Given the description of an element on the screen output the (x, y) to click on. 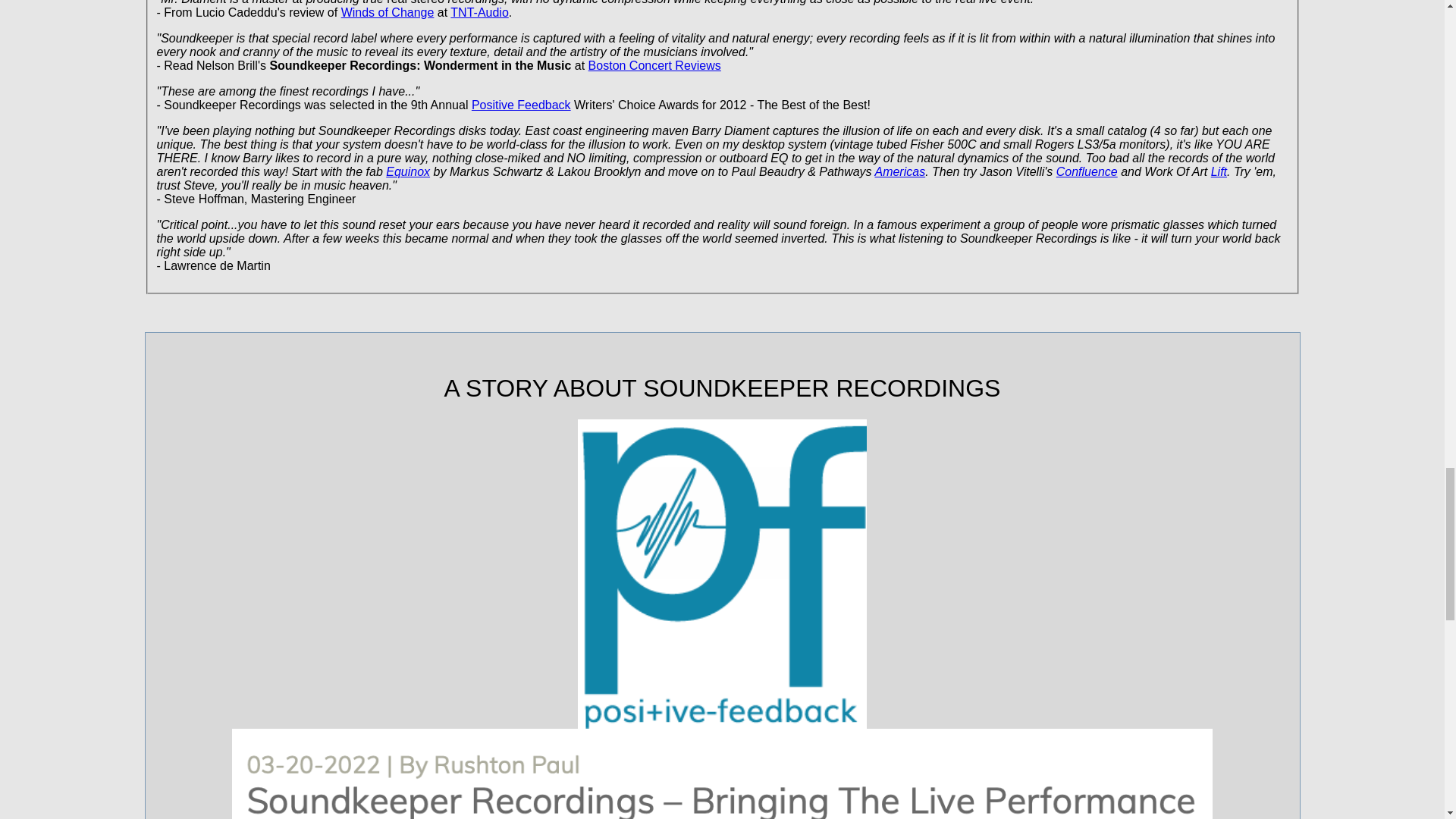
TNT-Audio (478, 11)
Positive Feedback (520, 104)
Americas (899, 171)
Boston Concert Reviews (654, 65)
Winds of Change (386, 11)
Equinox (407, 171)
